Given the description of an element on the screen output the (x, y) to click on. 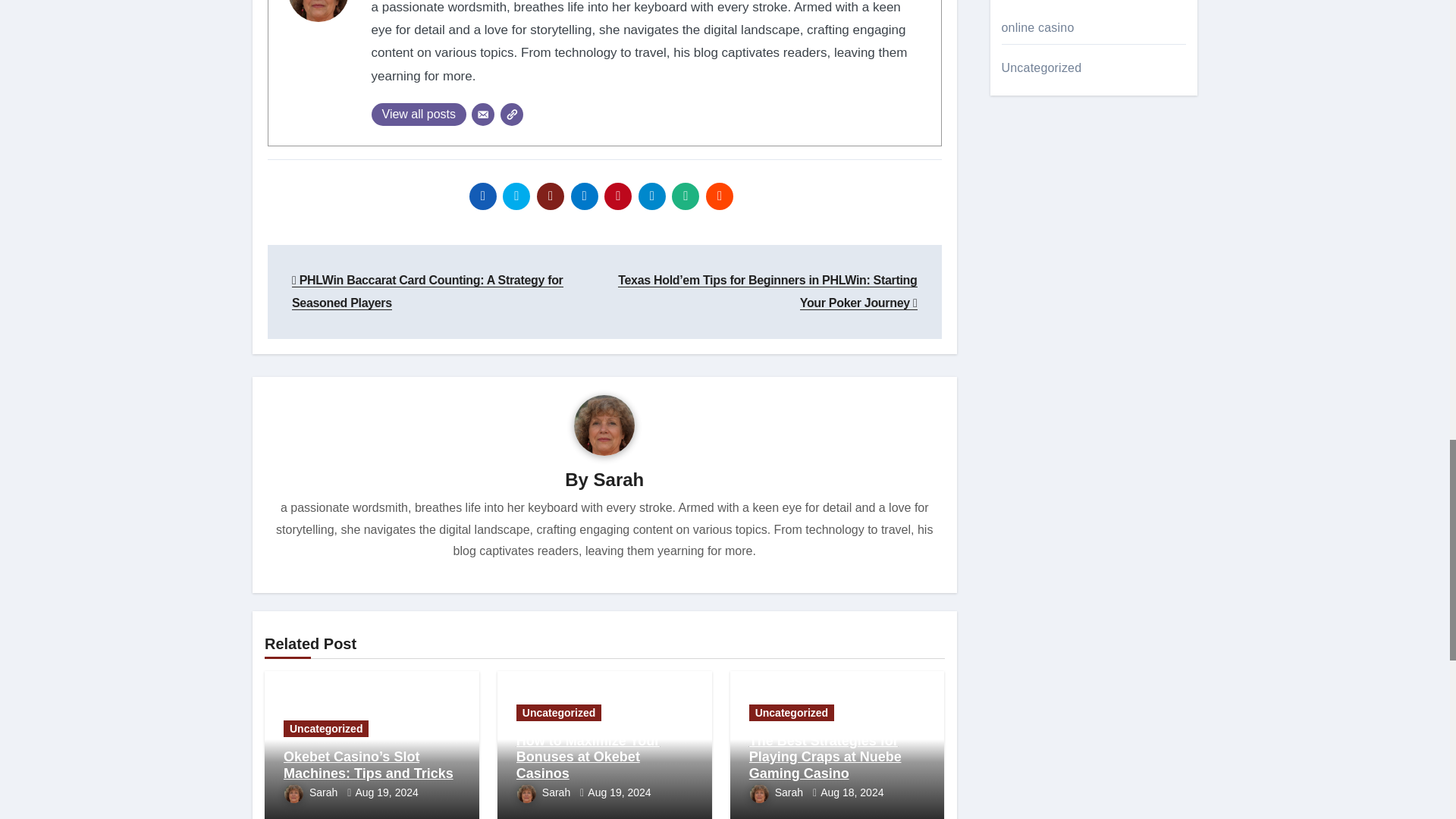
View all posts (419, 114)
Sarah (619, 479)
Permalink to: How to Maximize Your Bonuses at Okebet Casinos (587, 757)
Uncategorized (325, 728)
Sarah (311, 792)
View all posts (419, 114)
